Given the description of an element on the screen output the (x, y) to click on. 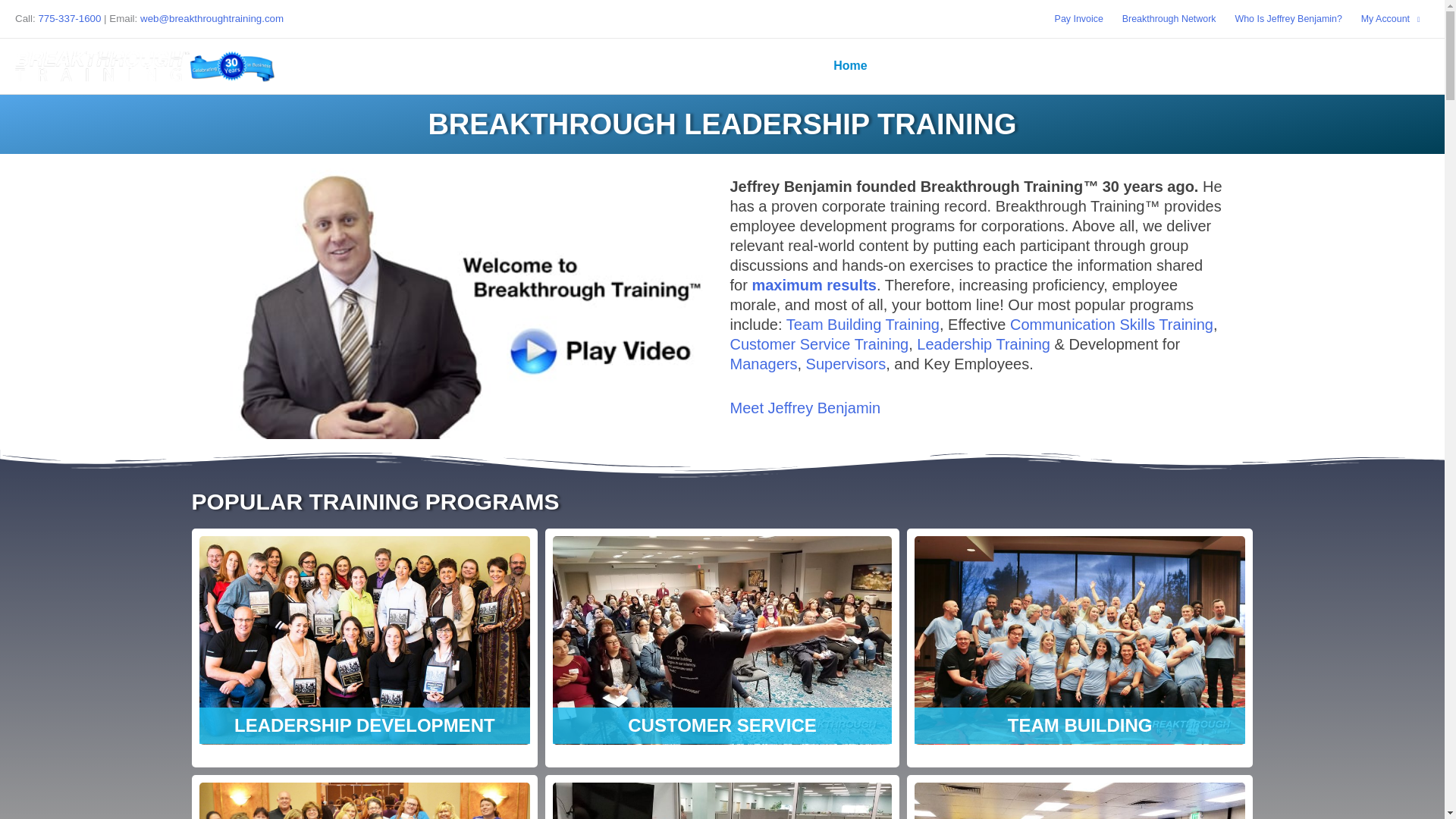
Breakthrough Network (1168, 18)
Training Programs (1085, 65)
Classes (974, 65)
Resources (1292, 65)
Products (1200, 65)
Who Is Jeffrey Benjamin? (1288, 18)
775-337-1600 (68, 18)
Pay Invoice (1078, 18)
My Account (1390, 18)
Home (850, 65)
News (907, 65)
